Given the description of an element on the screen output the (x, y) to click on. 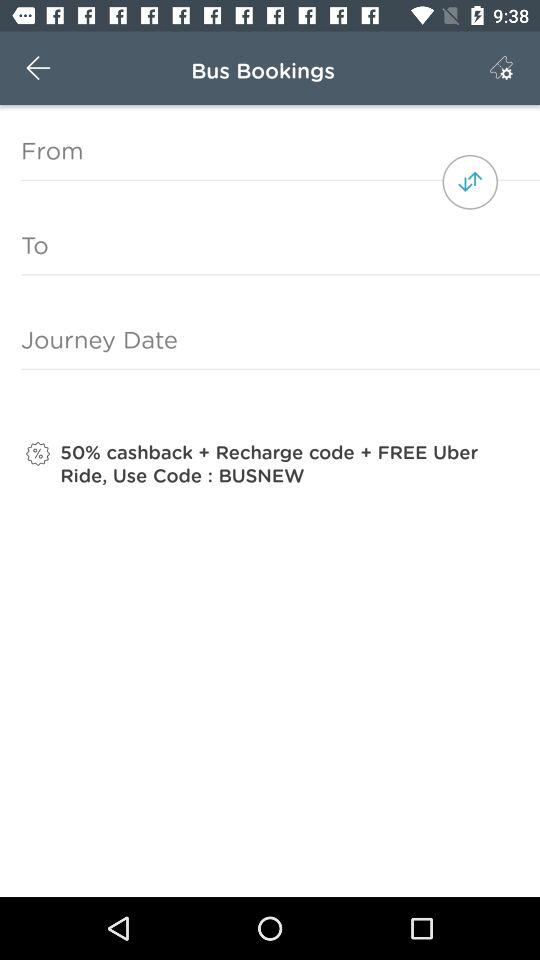
press the icon above the from icon (38, 68)
